Given the description of an element on the screen output the (x, y) to click on. 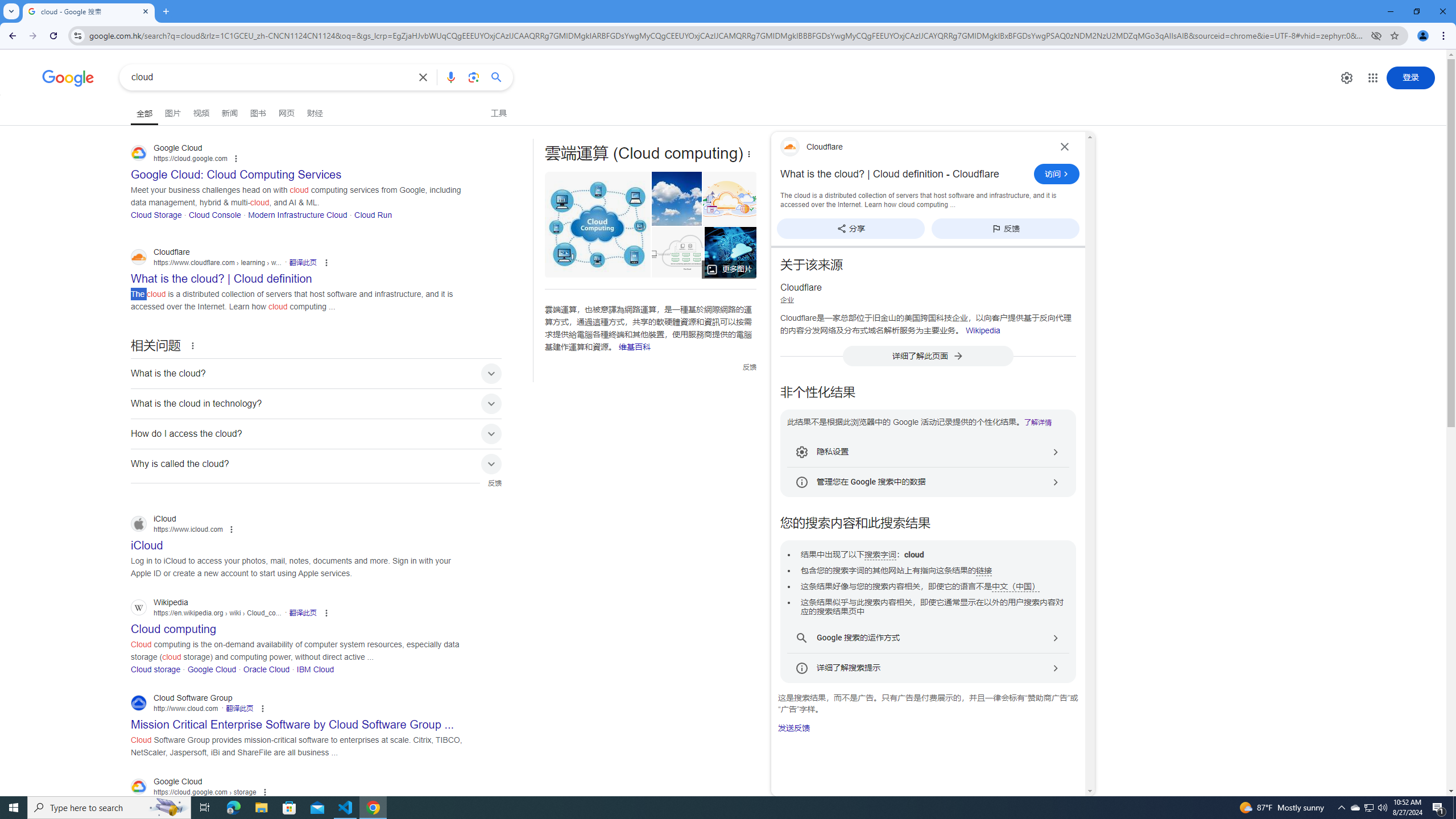
Cloud Storage (156, 214)
IBM Cloud (315, 669)
Cloud storage (155, 669)
